Given the description of an element on the screen output the (x, y) to click on. 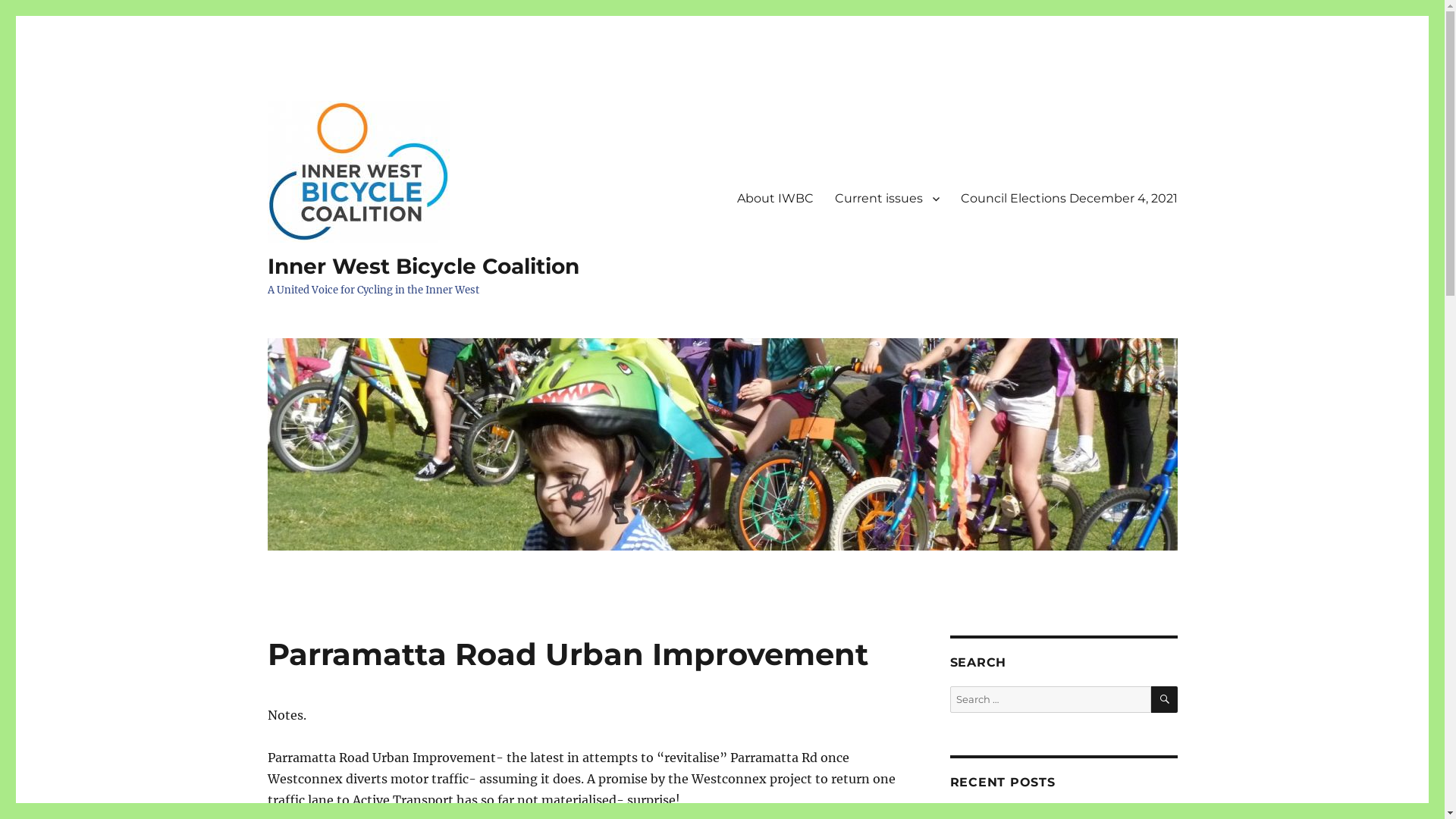
About IWBC Element type: text (775, 197)
Council Elections December 4, 2021 Element type: text (1068, 197)
Current issues Element type: text (886, 197)
SEARCH Element type: text (1164, 699)
Inner West Bicycle Coalition Element type: text (422, 266)
